Given the description of an element on the screen output the (x, y) to click on. 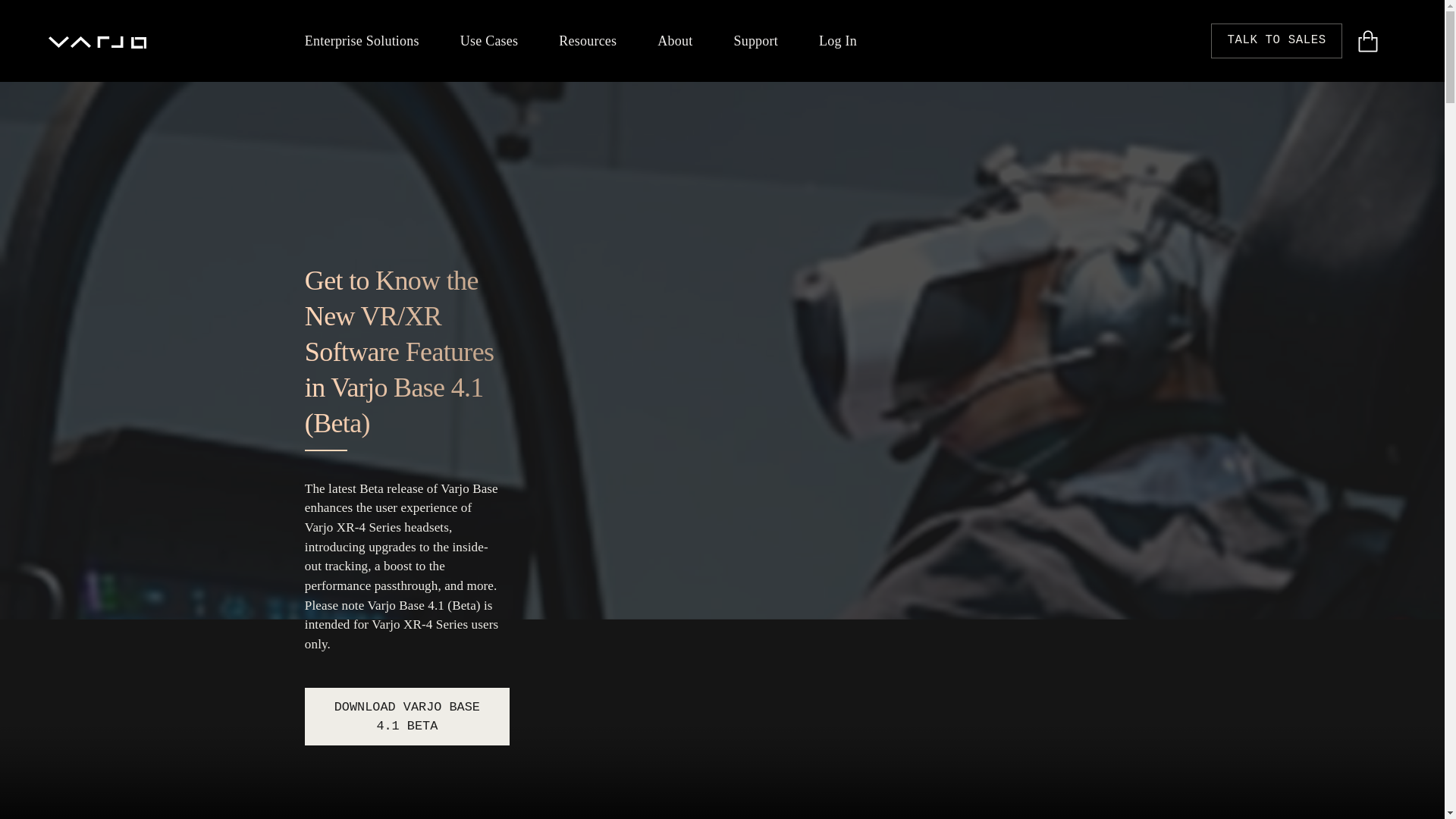
About (675, 40)
Enterprise Solutions (361, 40)
Use Cases (488, 40)
Resources (587, 40)
